Given the description of an element on the screen output the (x, y) to click on. 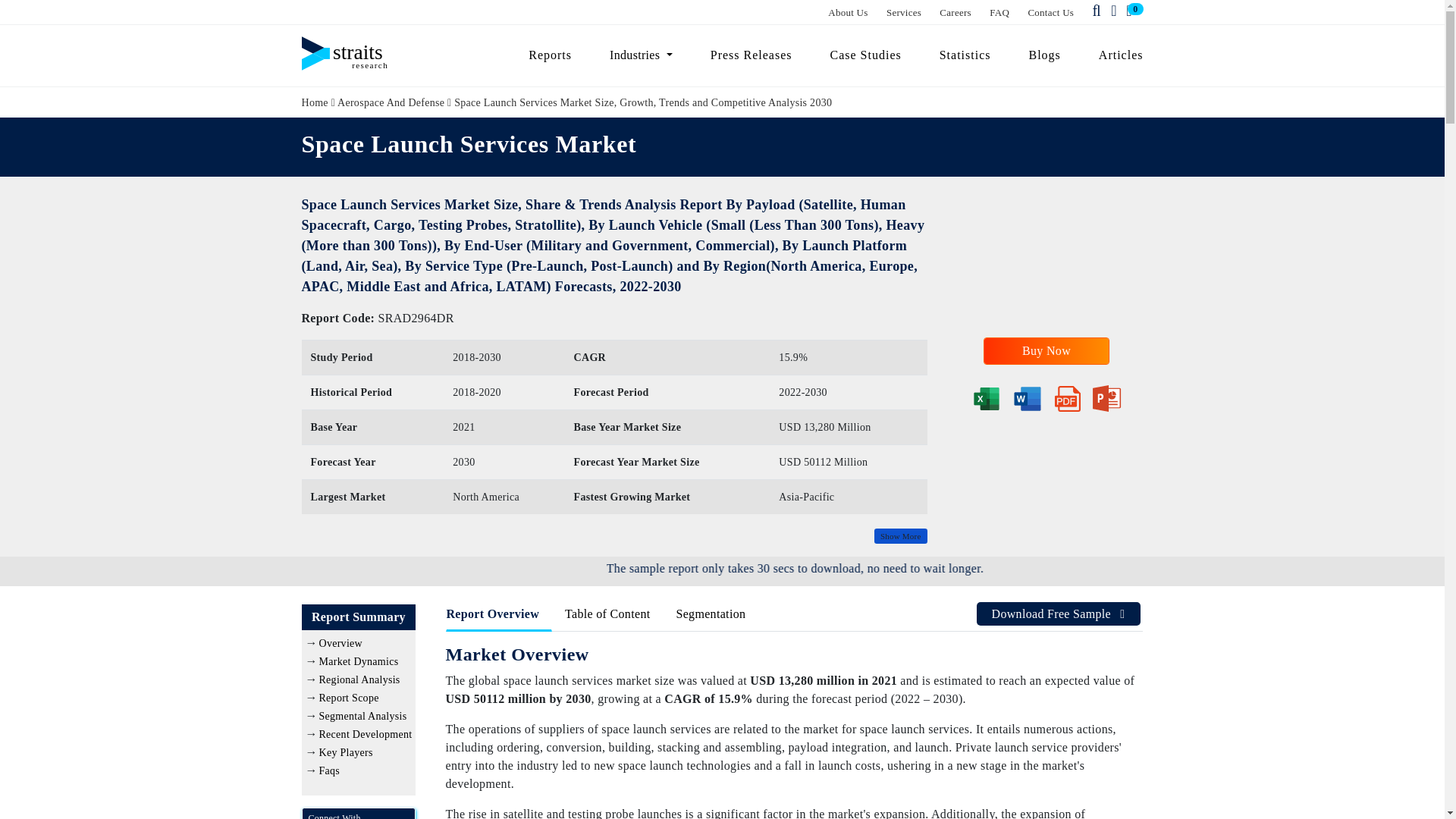
0 (1130, 11)
Overview (339, 643)
Faqs (328, 770)
Cart (1130, 11)
Blogs (1044, 55)
FAQ (999, 12)
Reports (549, 55)
Services (903, 12)
Market Dynamics (357, 661)
Report Scope (348, 697)
Home (315, 102)
Regional Analysis (358, 679)
Industries (641, 55)
Careers (955, 12)
Segmental Analysis (362, 715)
